Given the description of an element on the screen output the (x, y) to click on. 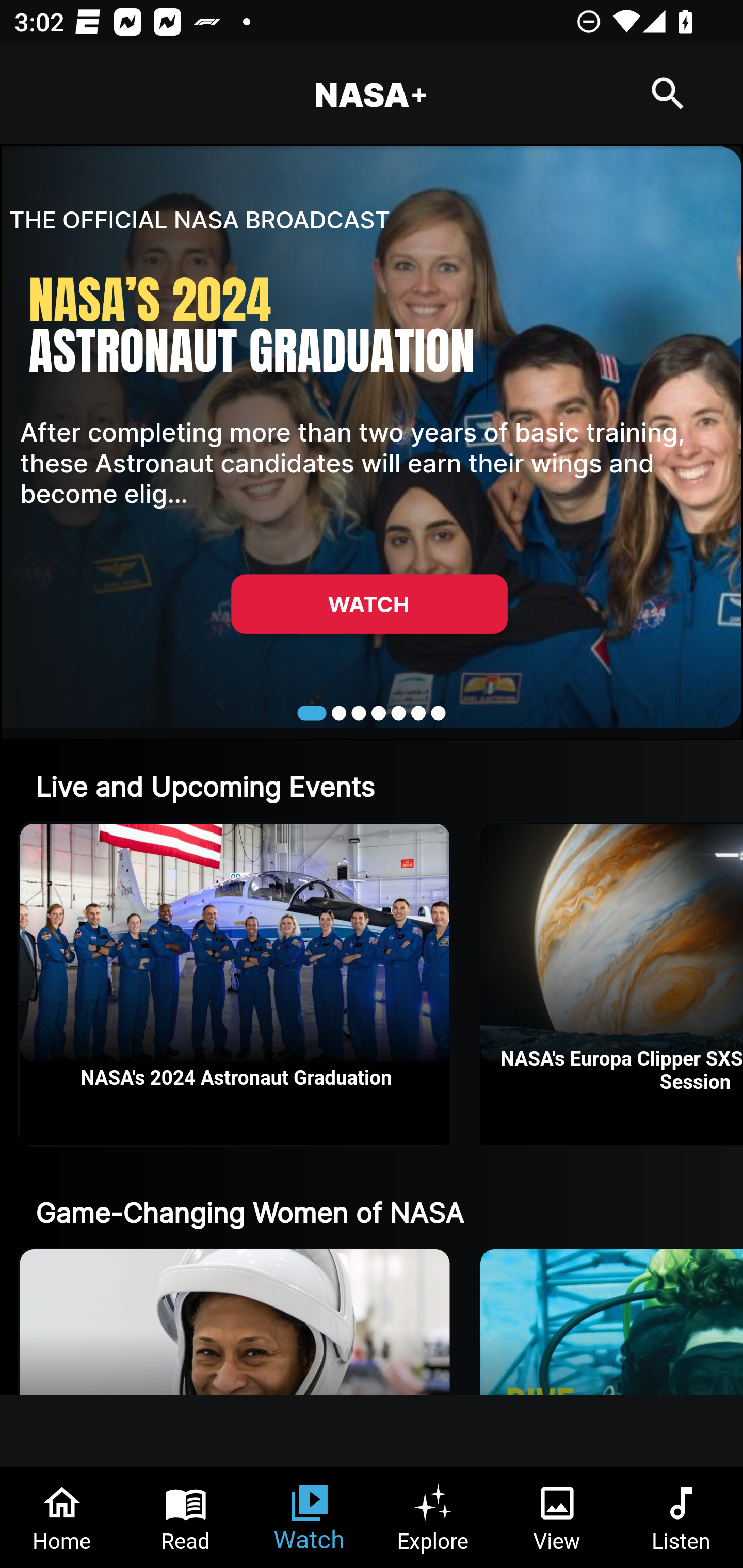
WATCH (369, 603)
NASA's 2024 Astronaut Graduation (235, 983)
NASA's Europa Clipper SXSW 2024 Opening Session (611, 983)
Home
Tab 1 of 6 (62, 1517)
Read
Tab 2 of 6 (185, 1517)
Watch
Tab 3 of 6 (309, 1517)
Explore
Tab 4 of 6 (433, 1517)
View
Tab 5 of 6 (556, 1517)
Listen
Tab 6 of 6 (680, 1517)
